Given the description of an element on the screen output the (x, y) to click on. 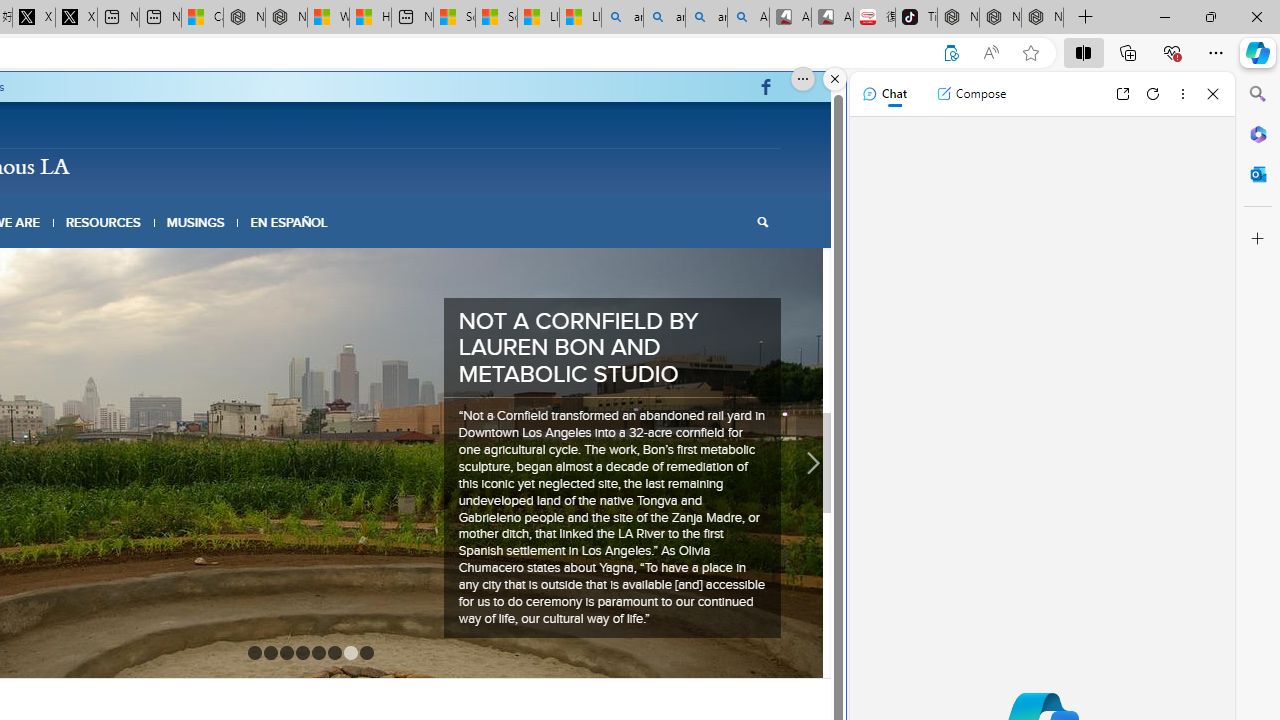
Open link in new tab (1122, 93)
3 (286, 564)
Outlook (1258, 174)
amazon - Search Images (706, 17)
4 (301, 564)
MUSINGS (195, 222)
amazon - Search (663, 17)
Link to Facebook (765, 87)
Support THE UCLA FOUNDATION? (950, 53)
